Given the description of an element on the screen output the (x, y) to click on. 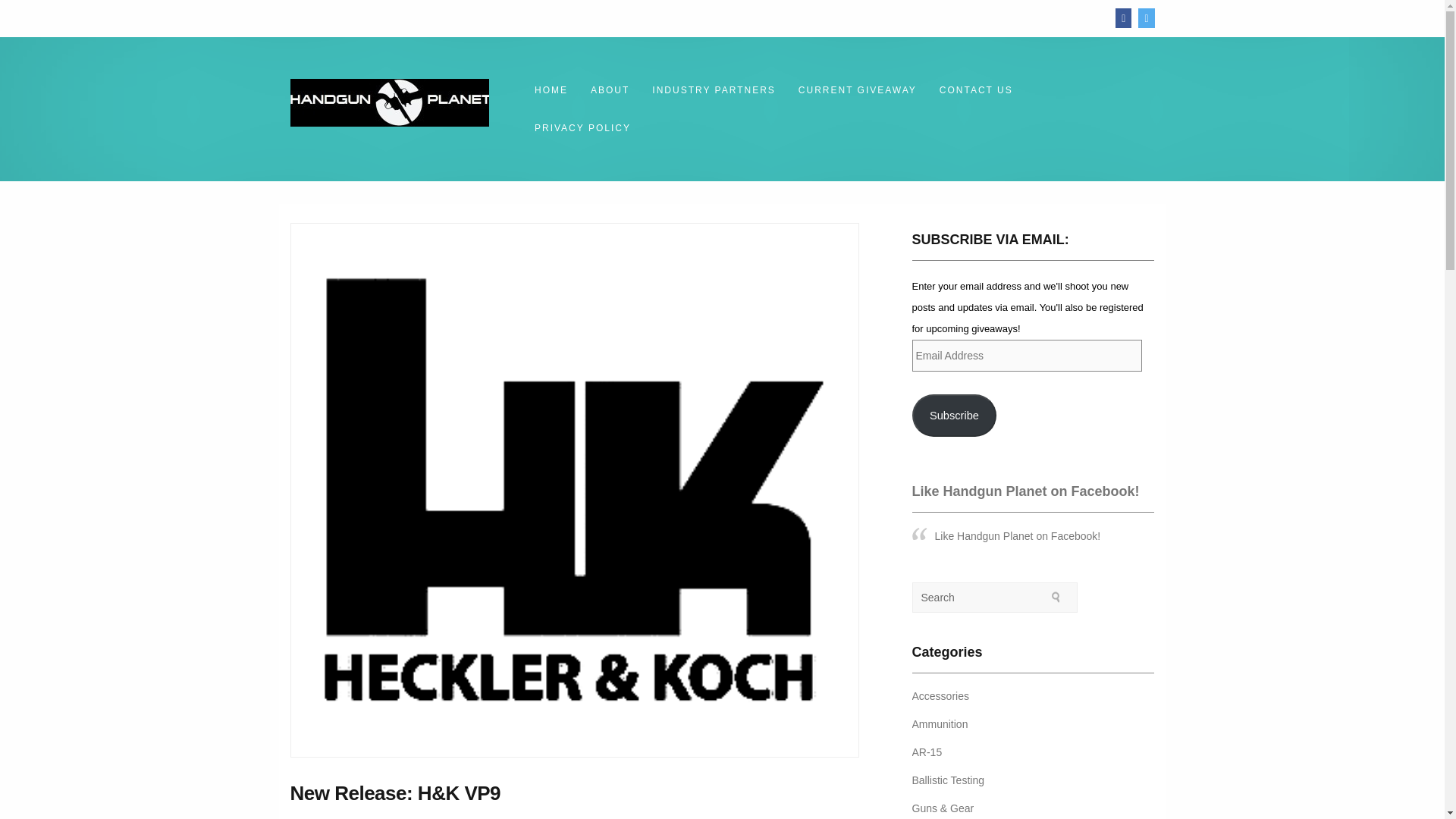
HOME (550, 89)
Search (977, 596)
CURRENT GIVEAWAY (857, 89)
ABOUT (609, 89)
Home (550, 89)
About (609, 89)
Industry Partners (713, 89)
Search (1055, 596)
INDUSTRY PARTNERS (713, 89)
CONTACT US (976, 89)
